Given the description of an element on the screen output the (x, y) to click on. 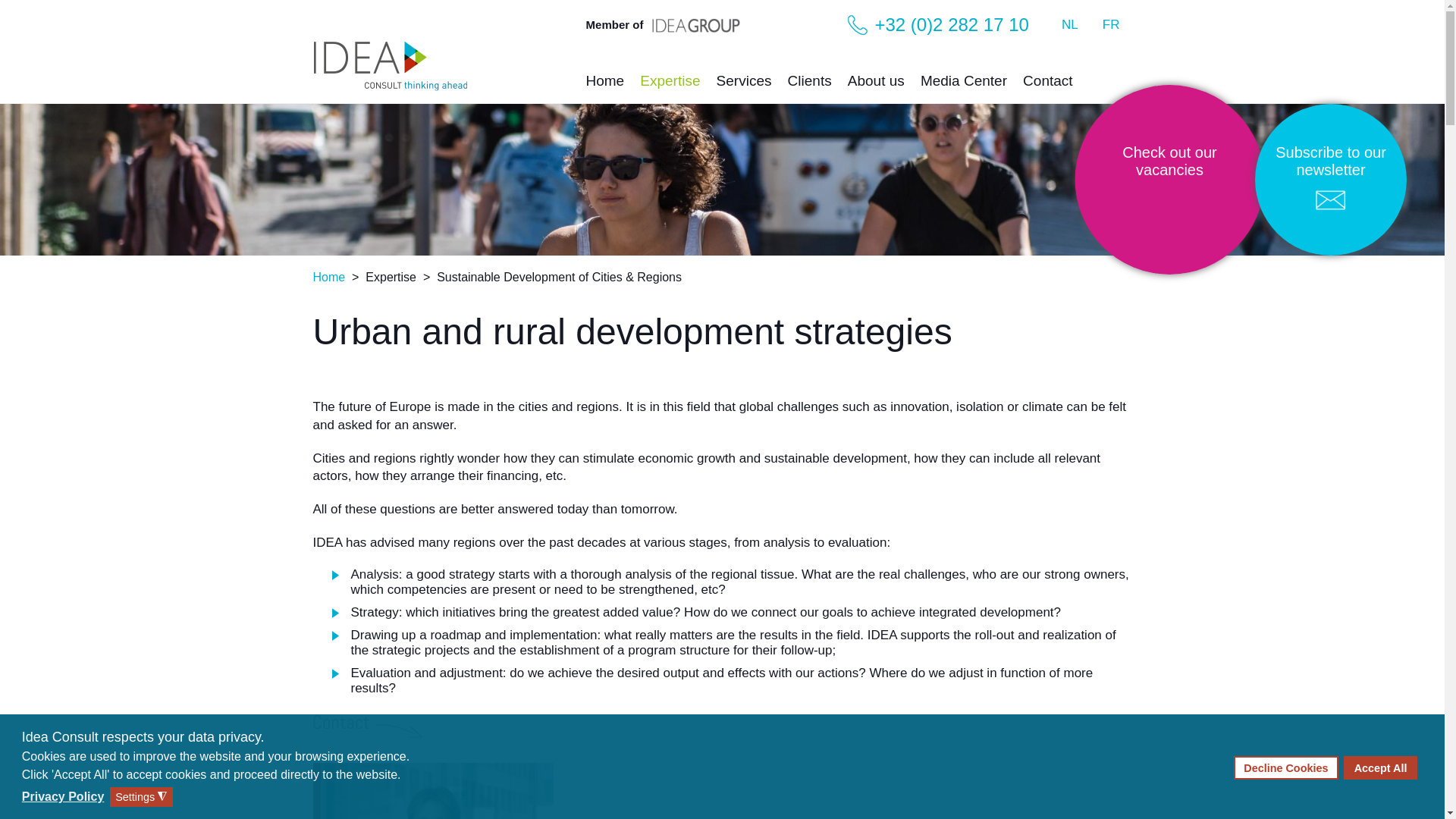
Clients (809, 84)
Privacy Policy (63, 796)
Accept All (1379, 767)
Home (604, 84)
Decline Cookies (1285, 767)
NL (1069, 24)
Contact (1047, 84)
FR (1110, 24)
